Given the description of an element on the screen output the (x, y) to click on. 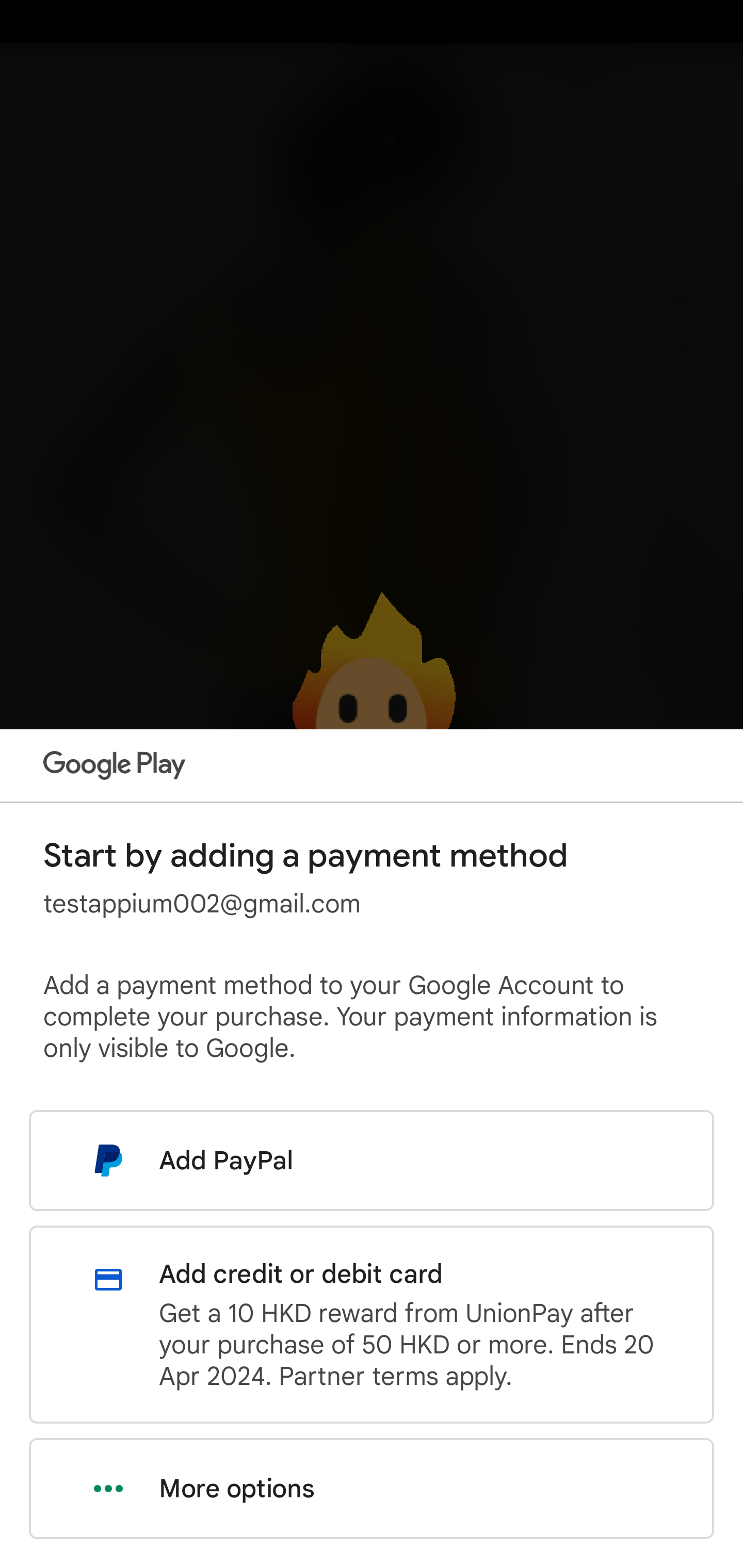
Add PayPal (371, 1160)
More options (371, 1488)
